Given the description of an element on the screen output the (x, y) to click on. 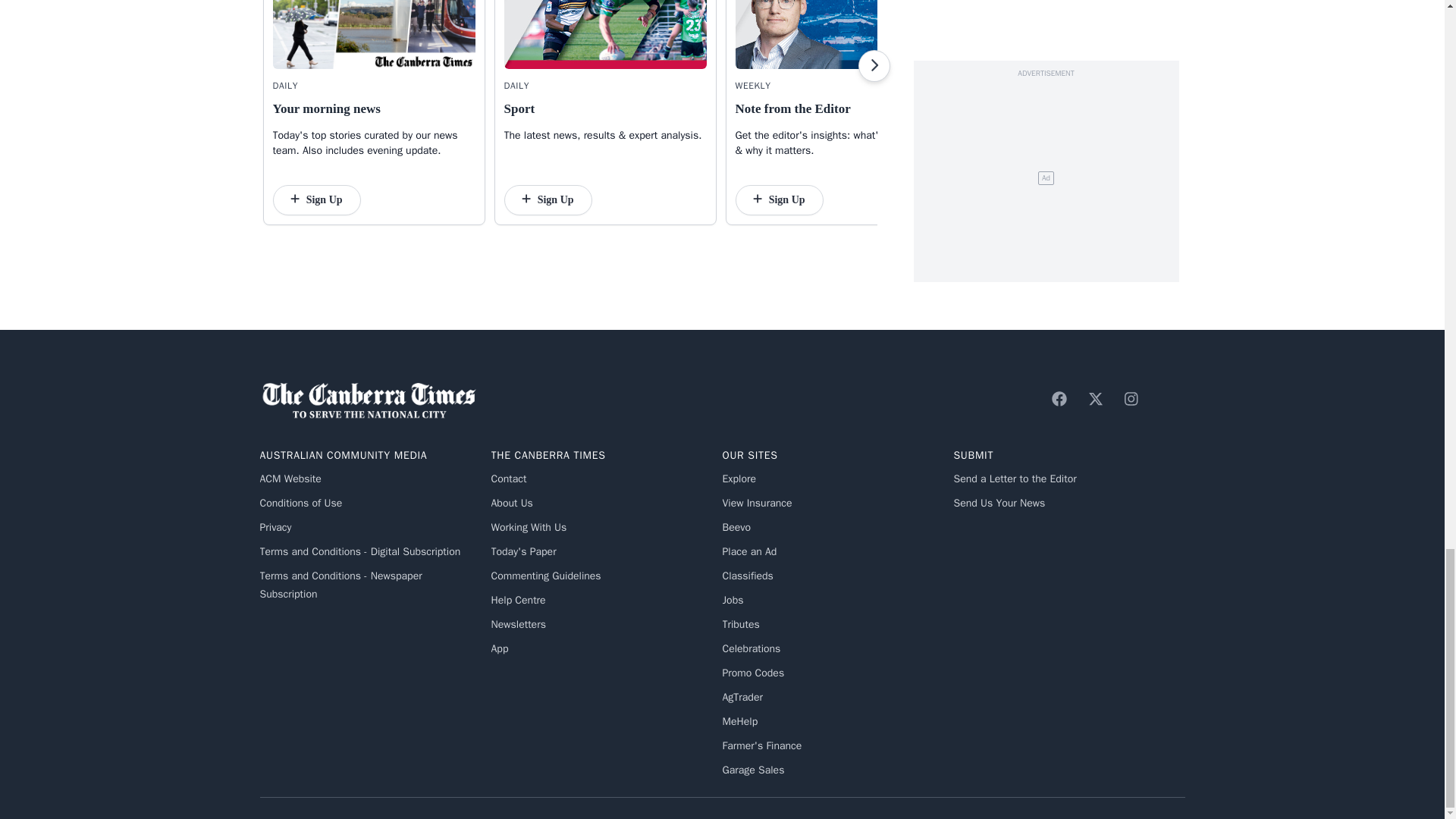
Sport Newsletter (604, 34)
Note from the Editor Newsletter (836, 34)
Your morning news Newsletter (374, 34)
